Given the description of an element on the screen output the (x, y) to click on. 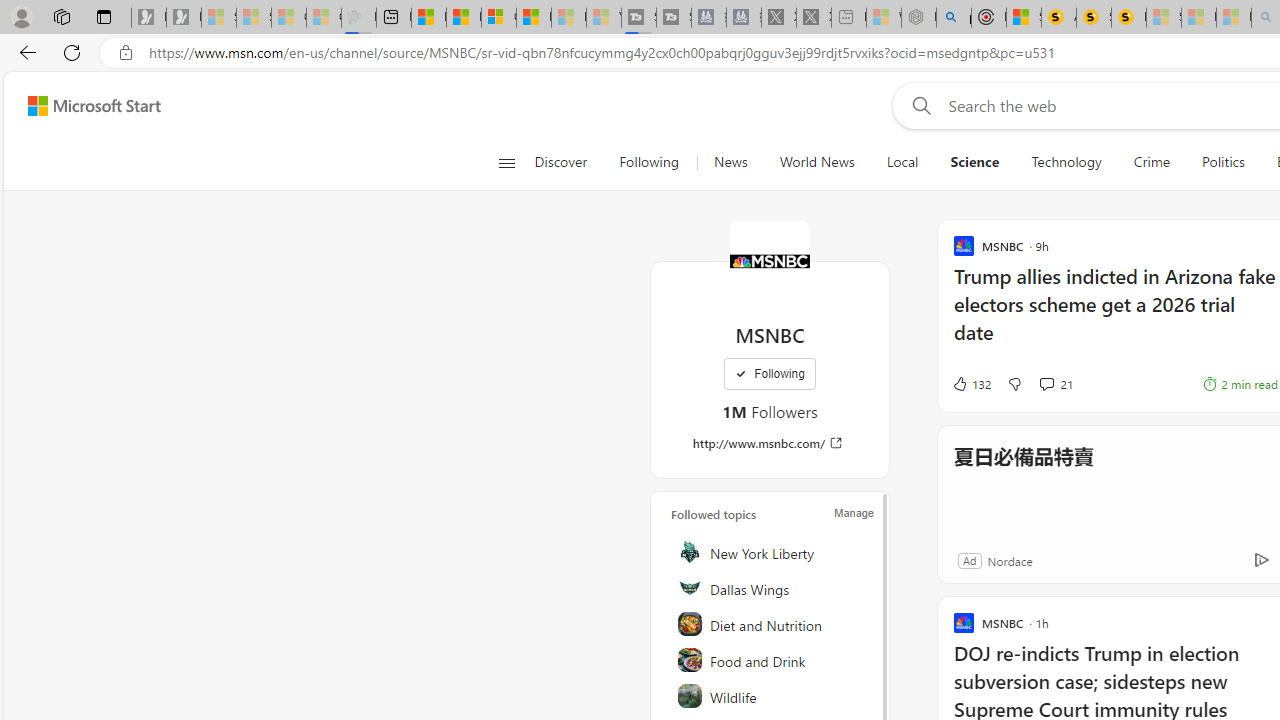
132 Like (970, 384)
World News (817, 162)
Wildlife (771, 695)
MSNBC (769, 260)
New York Liberty (771, 551)
